Given the description of an element on the screen output the (x, y) to click on. 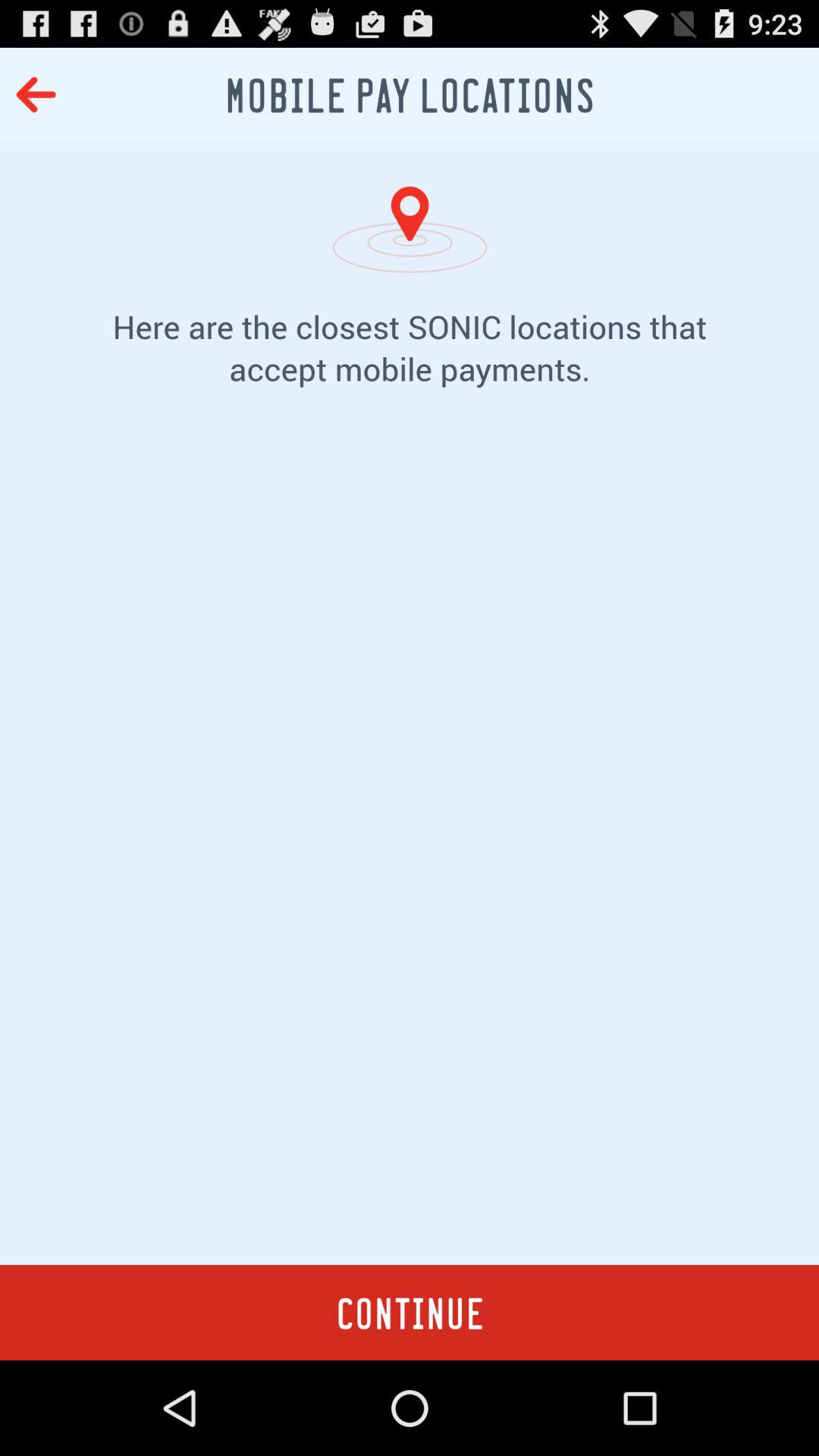
turn off item at the bottom (409, 1312)
